Given the description of an element on the screen output the (x, y) to click on. 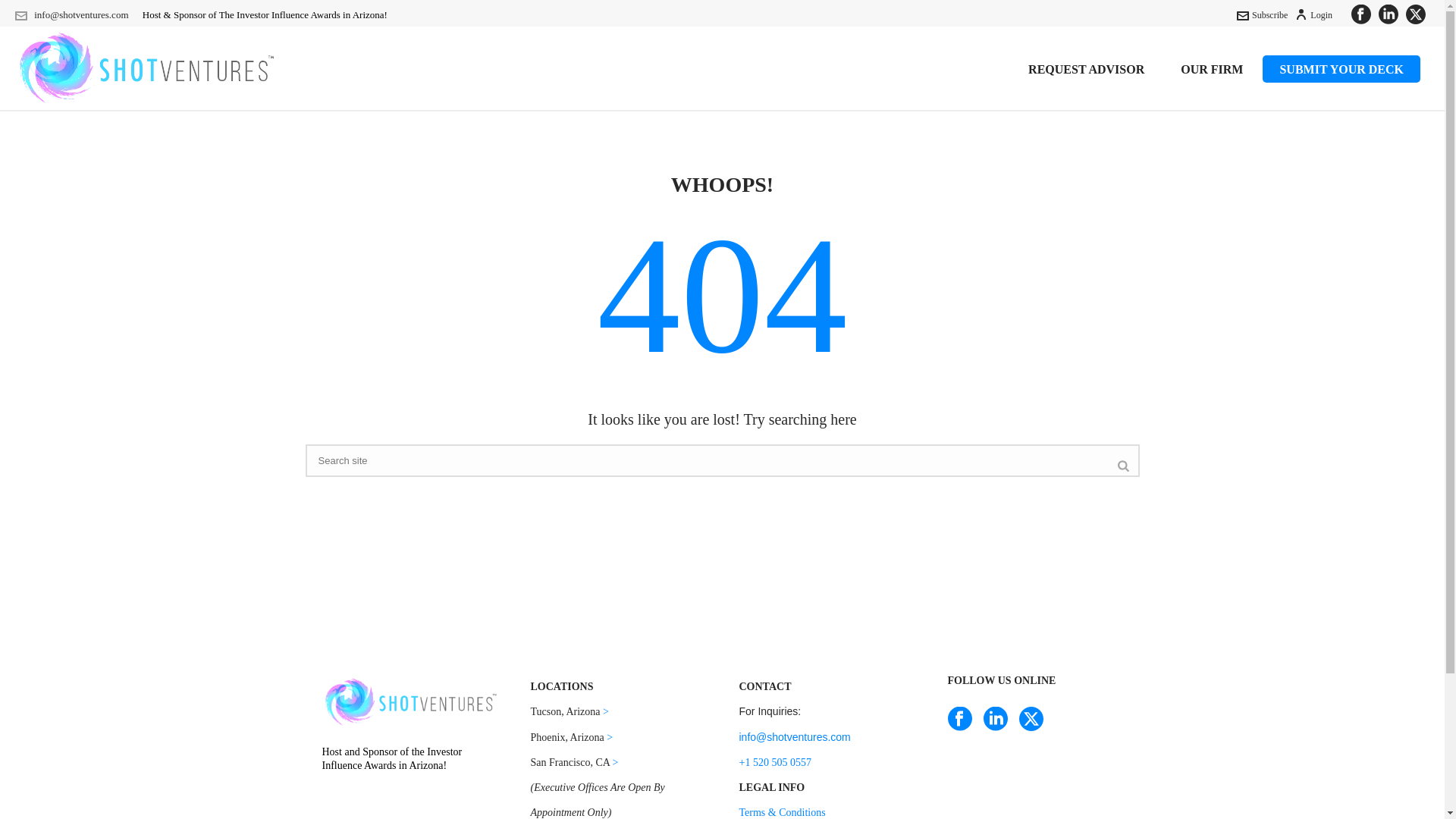
OUR FIRM (1211, 68)
REQUEST ADVISOR (1085, 68)
Follow Us on twitter (1031, 719)
Follow Us on linkedin (994, 719)
SUBMIT YOUR DECK (1341, 68)
Follow Us on facebook (959, 719)
Login (1313, 14)
REQUEST ADVISOR (1085, 68)
OUR FIRM (1211, 68)
SUBMIT YOUR DECK (1341, 68)
